Given the description of an element on the screen output the (x, y) to click on. 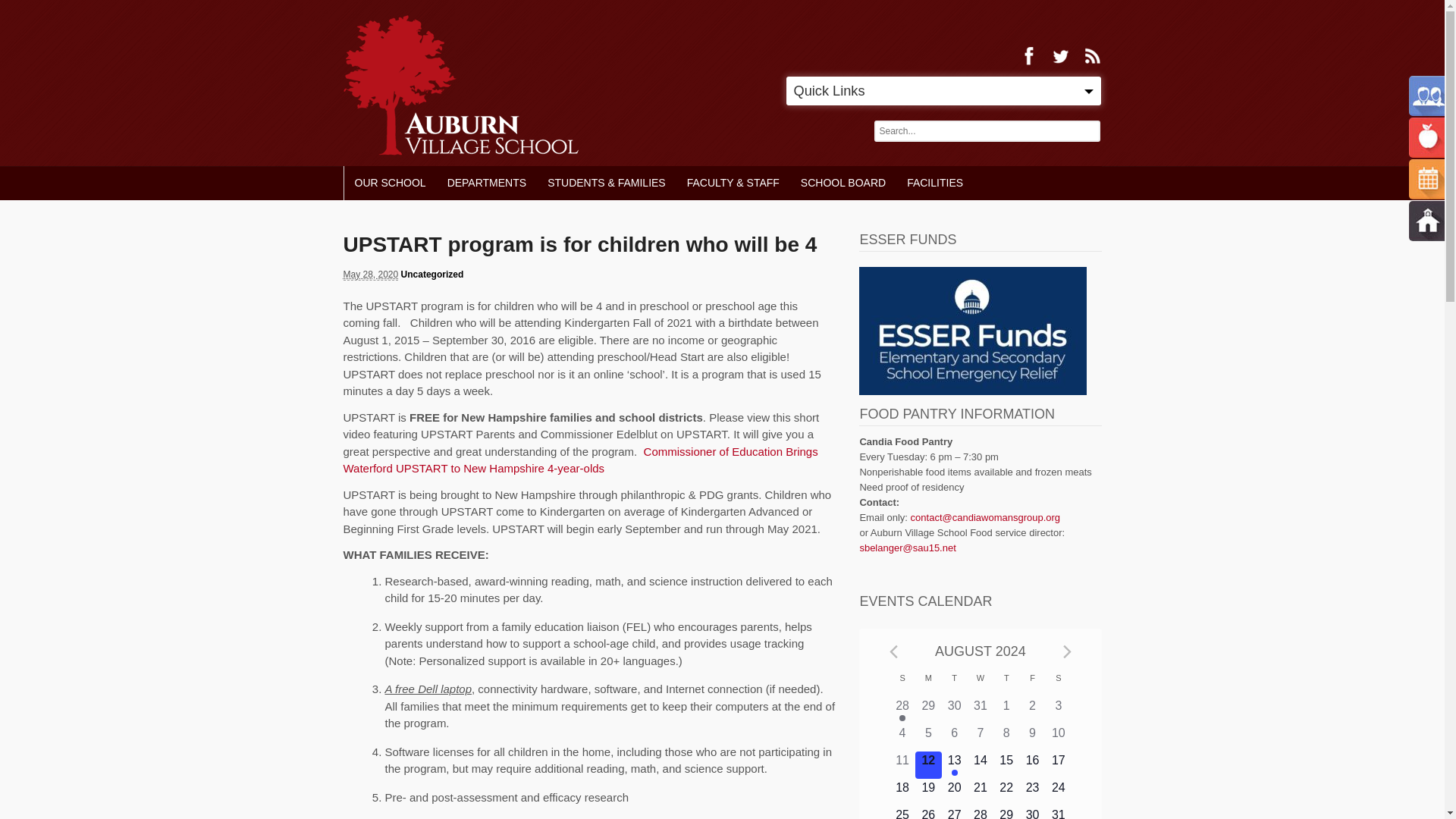
Has events (955, 772)
DEPARTMENTS (486, 182)
OUR SCHOOL (389, 182)
2020-05-28T12:54:44-0500 (369, 274)
View all items in Uncategorized (432, 274)
Has events (902, 717)
Auburn Village School (460, 85)
